Given the description of an element on the screen output the (x, y) to click on. 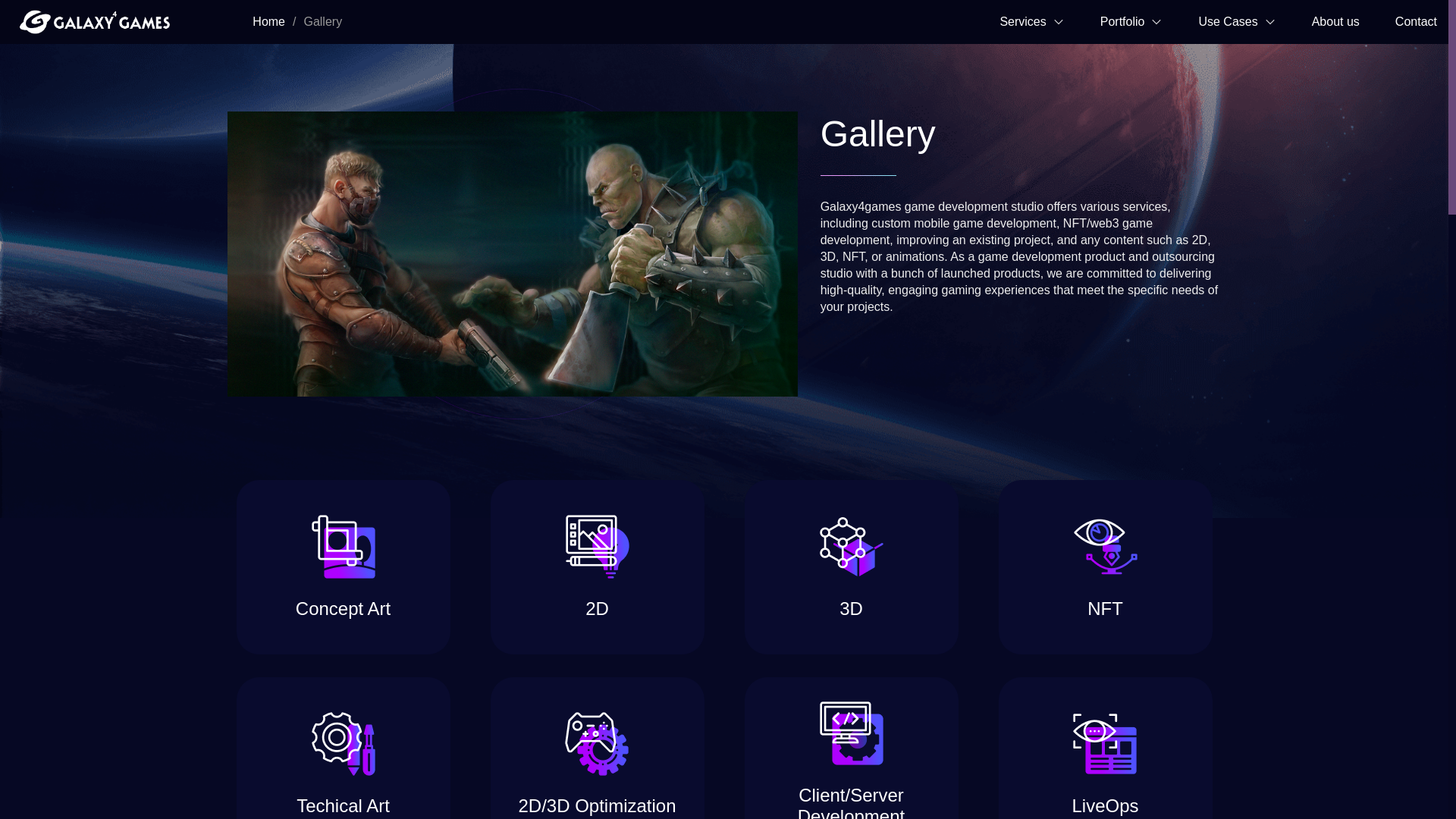
Portfolio (1131, 21)
Use Cases (1236, 21)
Contact (1415, 12)
Services (1031, 21)
About us (1335, 11)
Home (268, 21)
